Given the description of an element on the screen output the (x, y) to click on. 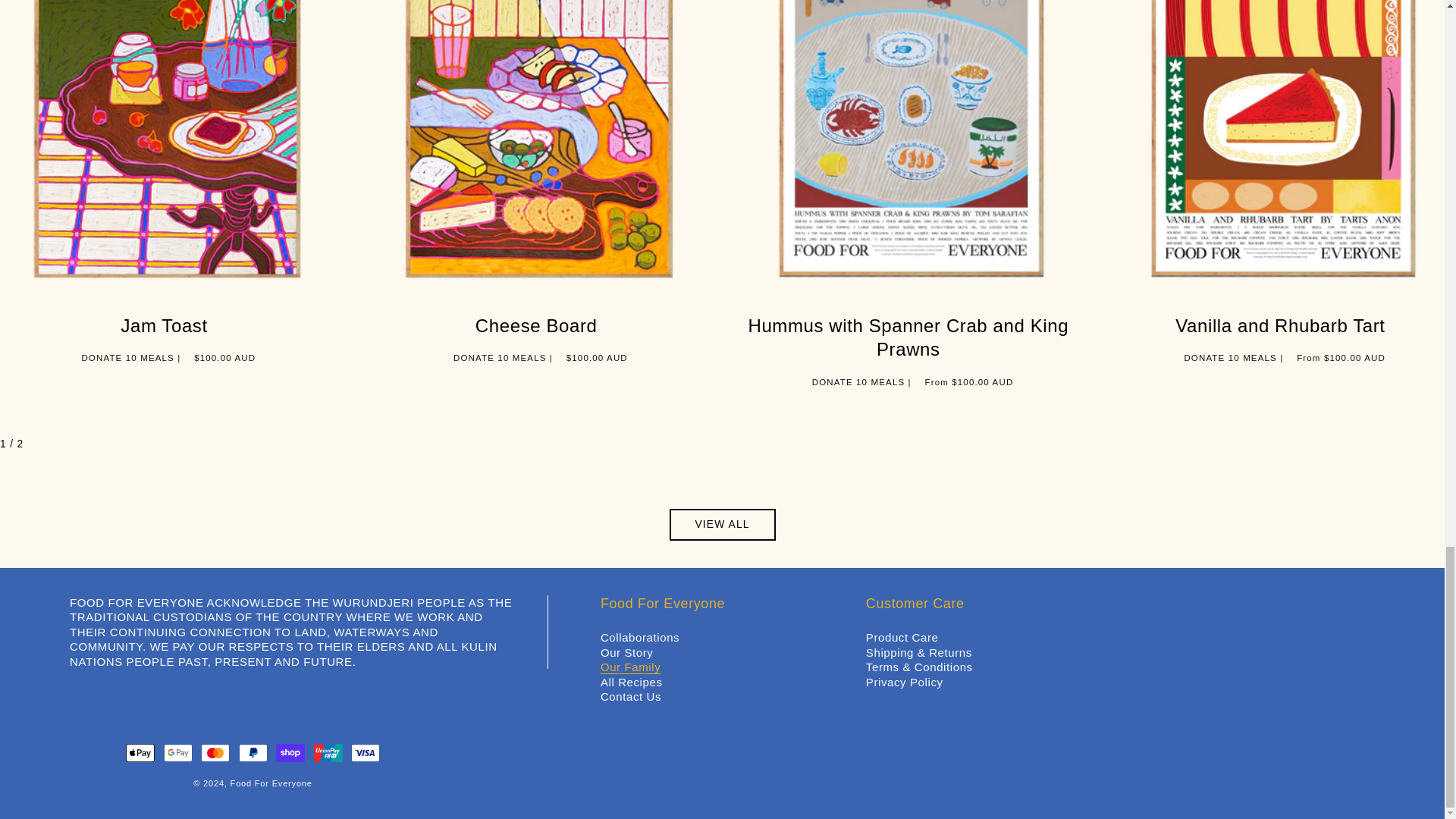
Jam Toast (164, 325)
Hummus with Spanner Crab and King Prawns (907, 337)
Cheese Board (536, 325)
